Given the description of an element on the screen output the (x, y) to click on. 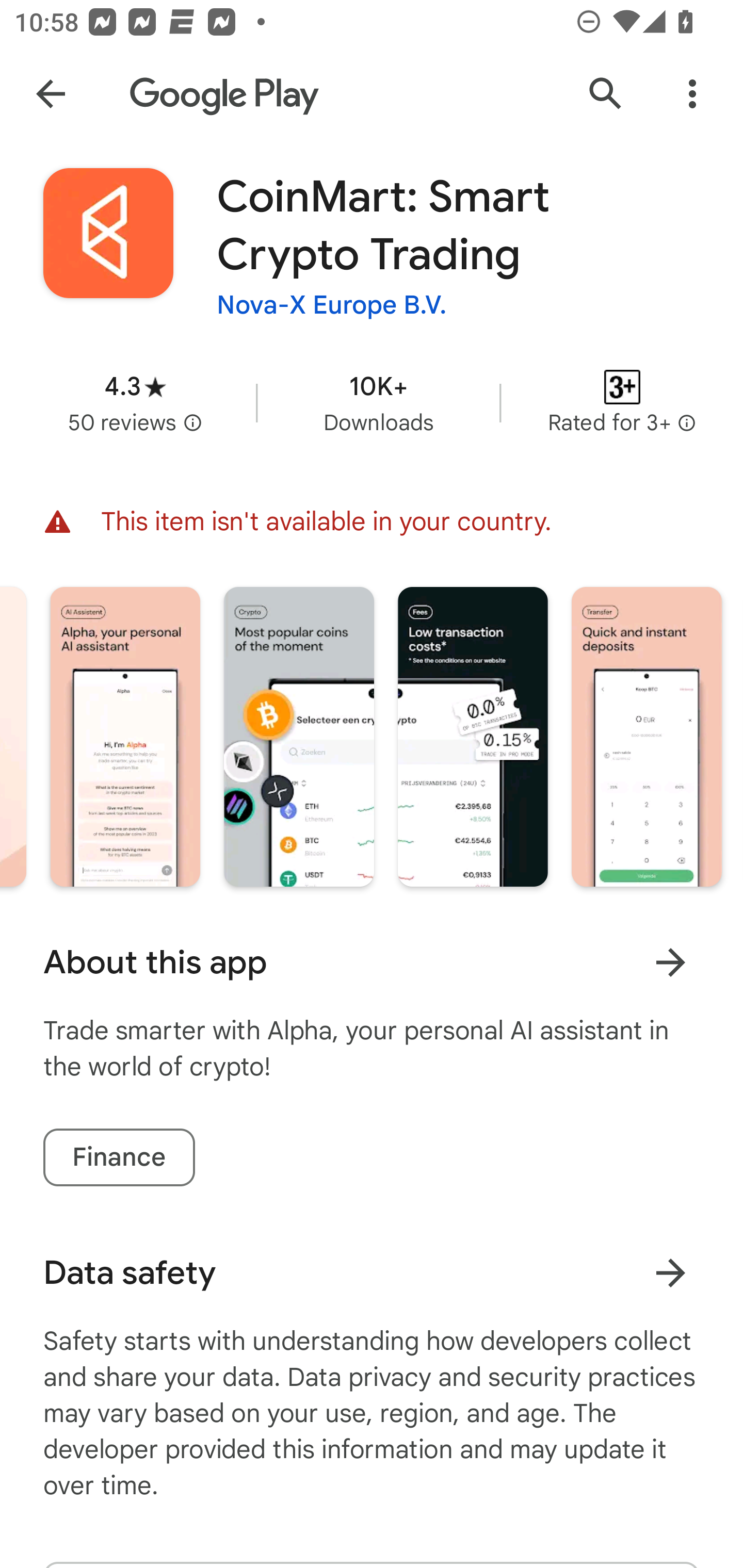
Navigate up (50, 93)
Search Google Play (605, 93)
More Options (692, 93)
Nova-X Europe B.V. (331, 304)
Average rating 4.3 stars in 50 reviews (135, 402)
Content rating Rated for 3+ (622, 402)
Screenshot "1" of "7" (124, 735)
Screenshot "2" of "7" (298, 735)
Screenshot "3" of "7" (472, 735)
Screenshot "4" of "7" (646, 735)
About this app Learn more About this app (371, 962)
Learn more About this app (670, 961)
Finance tag (118, 1157)
Data safety Learn more about data safety (371, 1273)
Learn more about data safety (670, 1272)
